Given the description of an element on the screen output the (x, y) to click on. 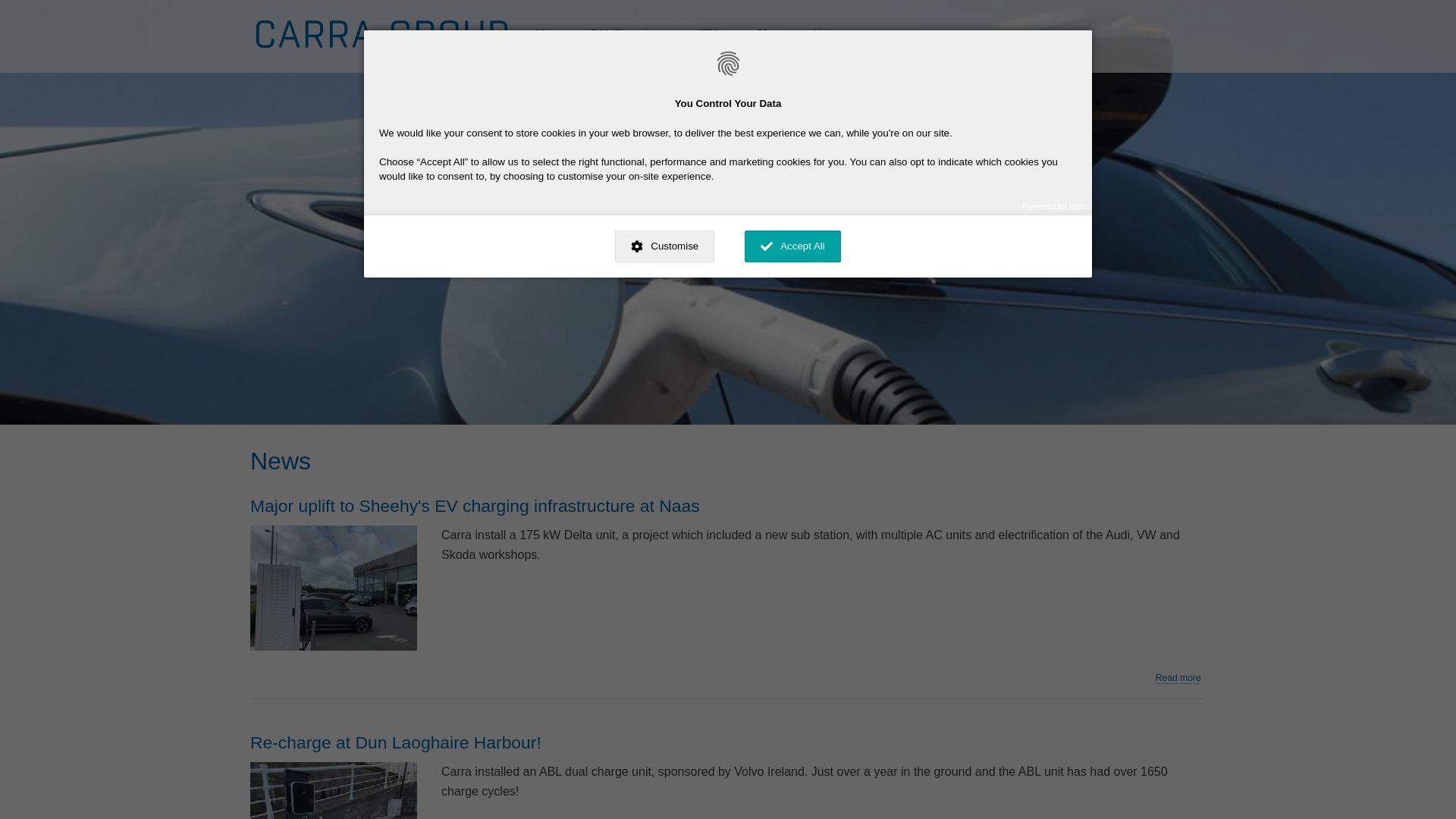
Customise (664, 246)
News (772, 35)
About (826, 35)
Re-charge at Dun Laoghaire Harbour! (395, 742)
Accept All (792, 246)
Major uplift to Sheehy's EV charging infrastructure at Naas  (477, 505)
Skip to main content (728, 1)
Home (551, 35)
